Given the description of an element on the screen output the (x, y) to click on. 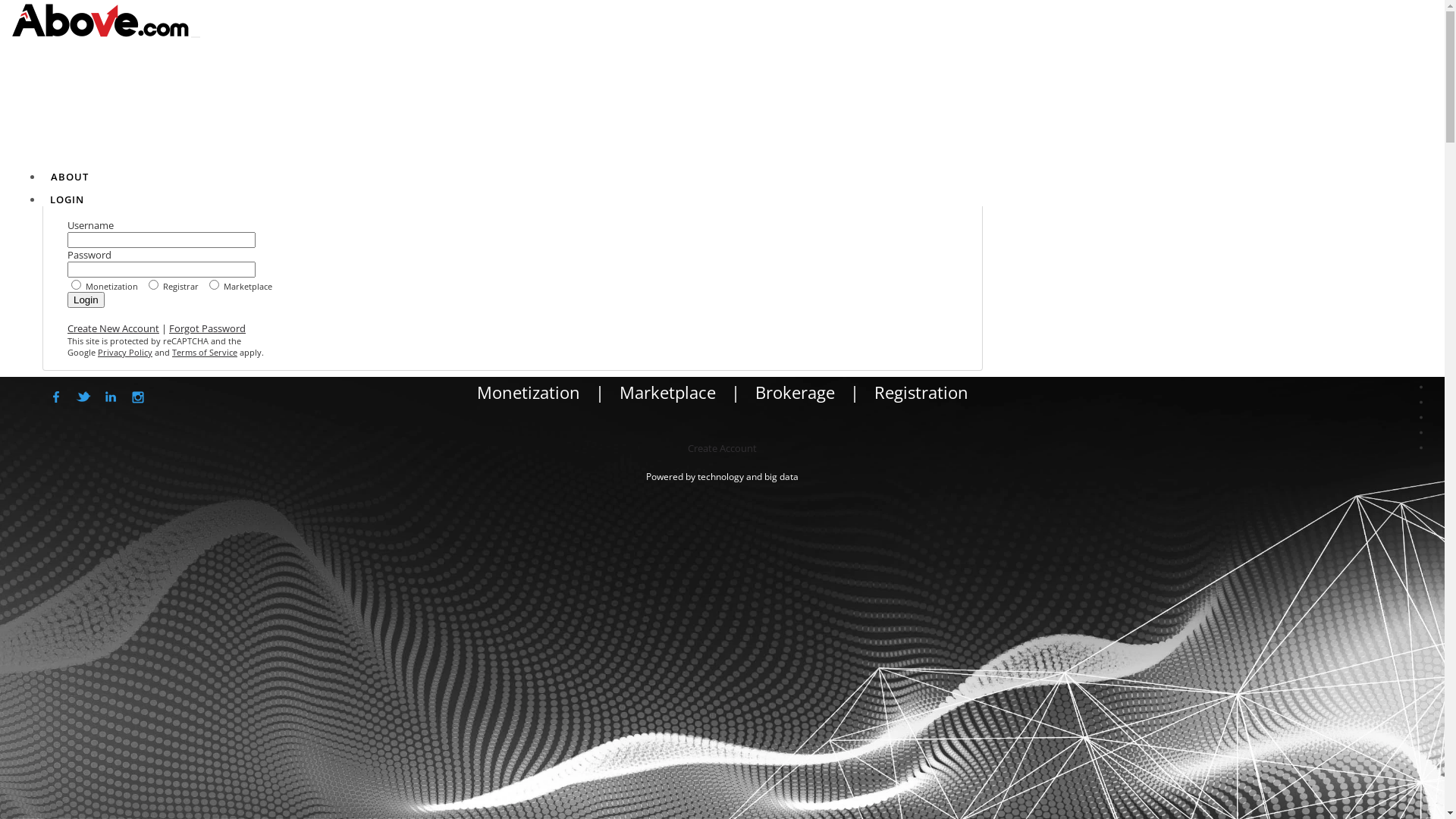
Marketplace Element type: text (666, 391)
Privacy Policy Element type: text (124, 351)
Section 6 Element type: text (1420, 447)
Login Element type: text (85, 299)
Portfolio Manager Element type: text (1420, 371)
Forgot Password Element type: text (207, 328)
Create Account Element type: text (721, 448)
Terms of Service Element type: text (204, 351)
Above Marketplace Element type: text (1420, 432)
Monetization   Registrar   Marketplace Element type: text (512, 284)
Monetization Element type: text (527, 391)
LOGIN Element type: text (67, 199)
Monetization Element type: text (1420, 387)
Registration Element type: text (920, 391)
ABOUT Element type: text (69, 176)
Brokerage Element type: text (794, 391)
Domain Brokerage Element type: text (1420, 402)
Above Registrar Element type: text (1420, 417)
Create New Account Element type: text (113, 328)
